Given the description of an element on the screen output the (x, y) to click on. 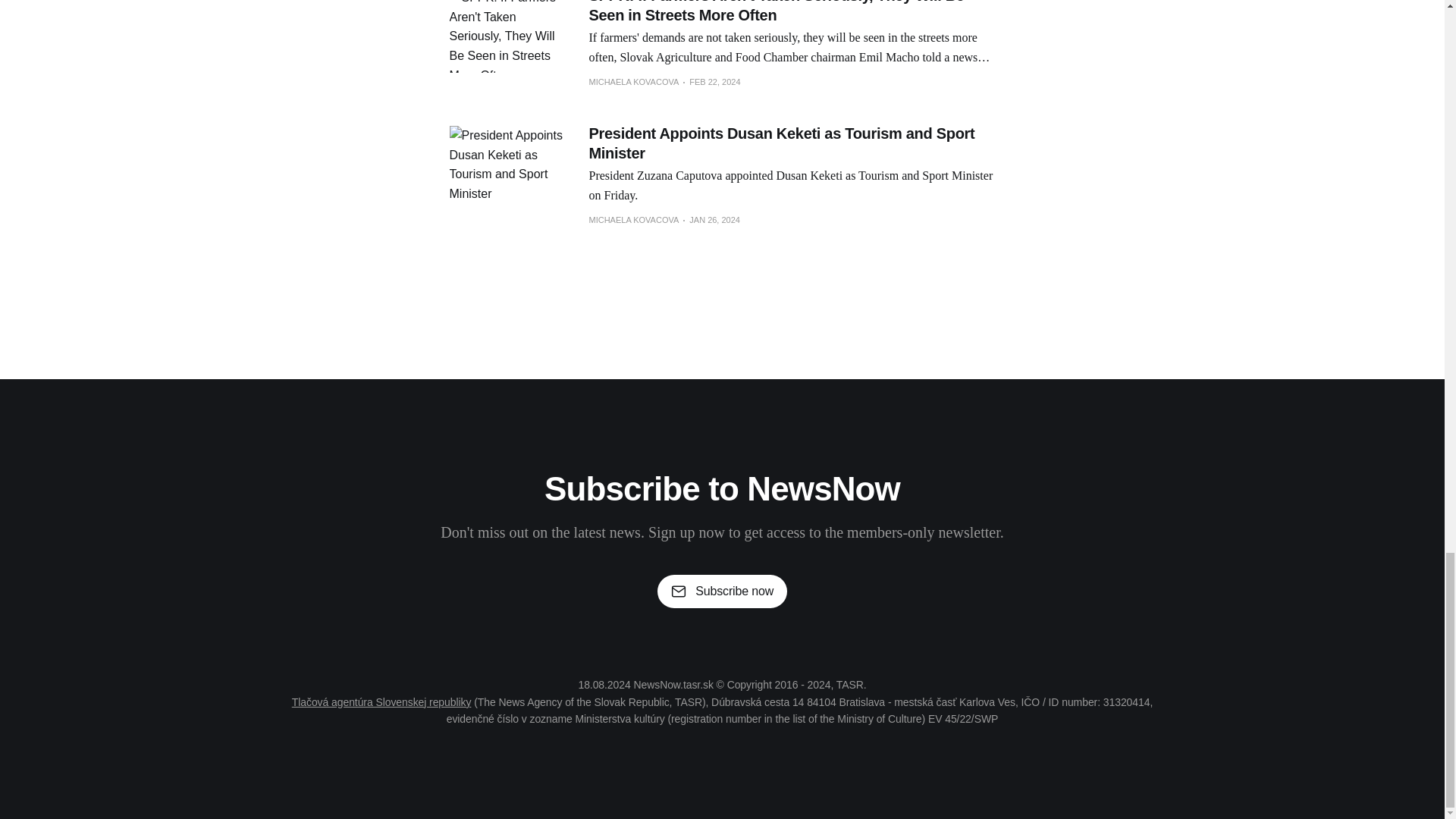
Subscribe now (722, 591)
